Given the description of an element on the screen output the (x, y) to click on. 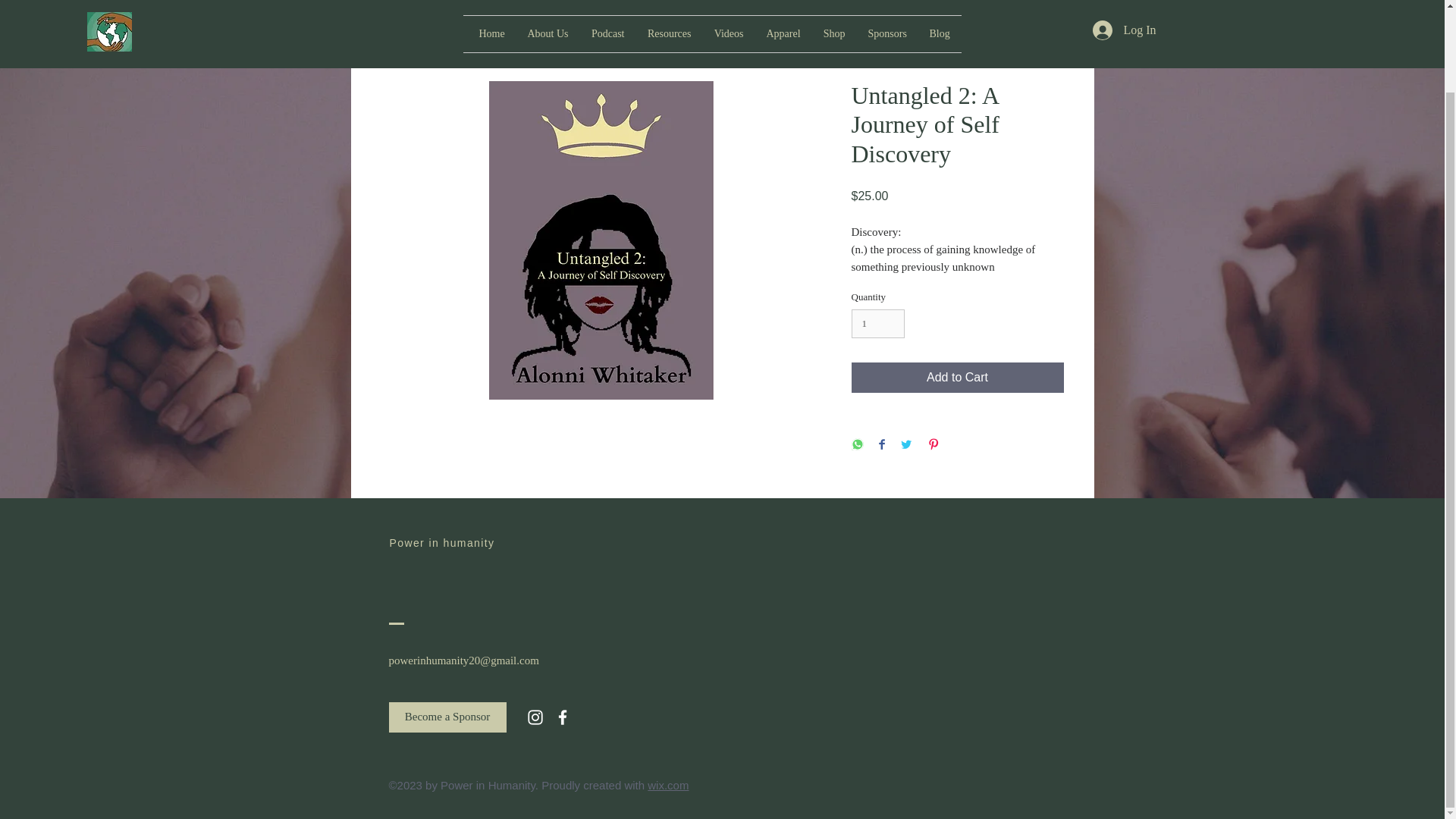
1 (877, 323)
Become a Sponsor (446, 716)
Add to Cart (956, 377)
wix.com (667, 784)
